Given the description of an element on the screen output the (x, y) to click on. 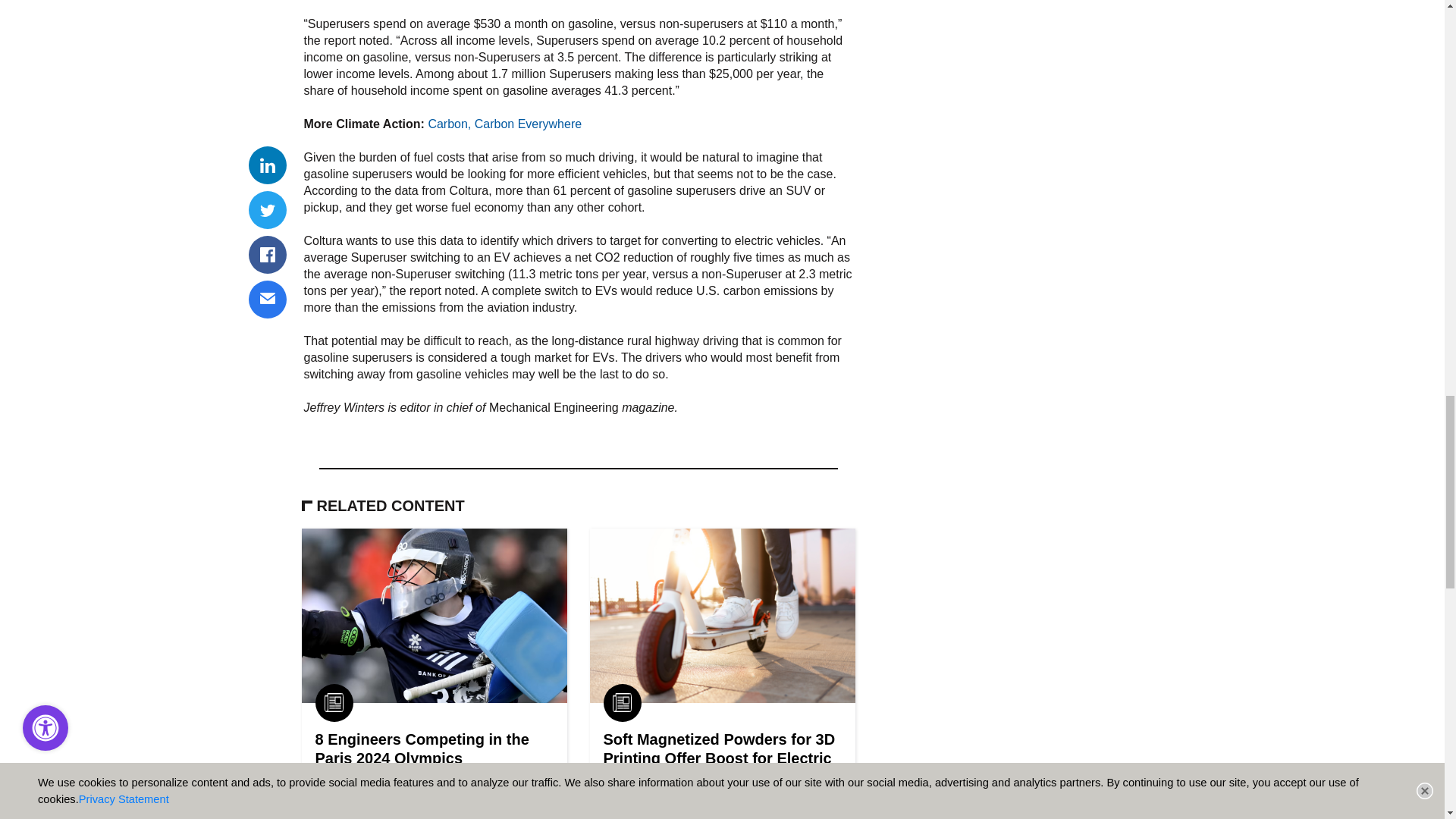
Carbon, Carbon Everywhere (504, 123)
